Given the description of an element on the screen output the (x, y) to click on. 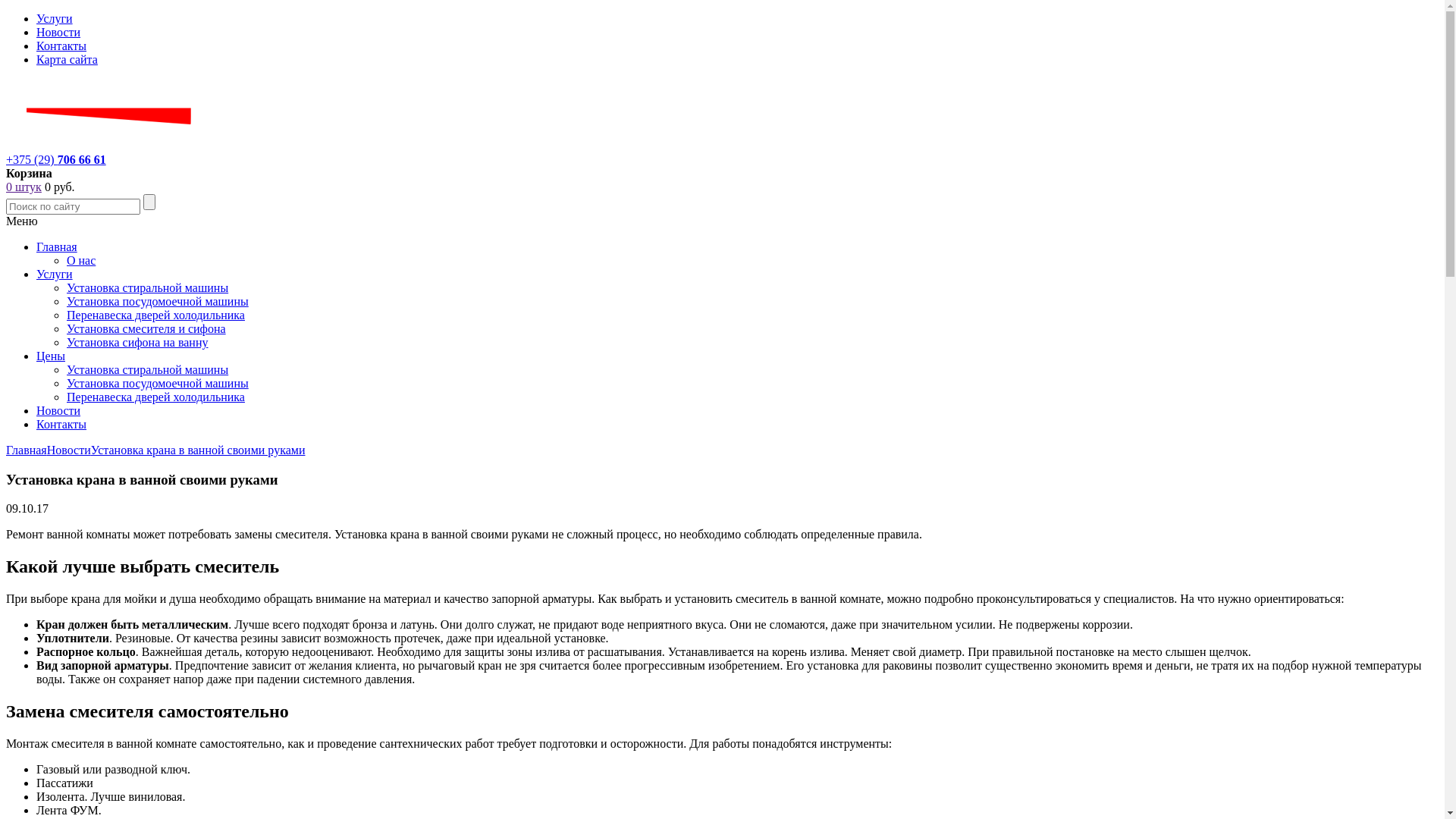
+375 (29) 706 66 61 Element type: text (56, 159)
